Given the description of an element on the screen output the (x, y) to click on. 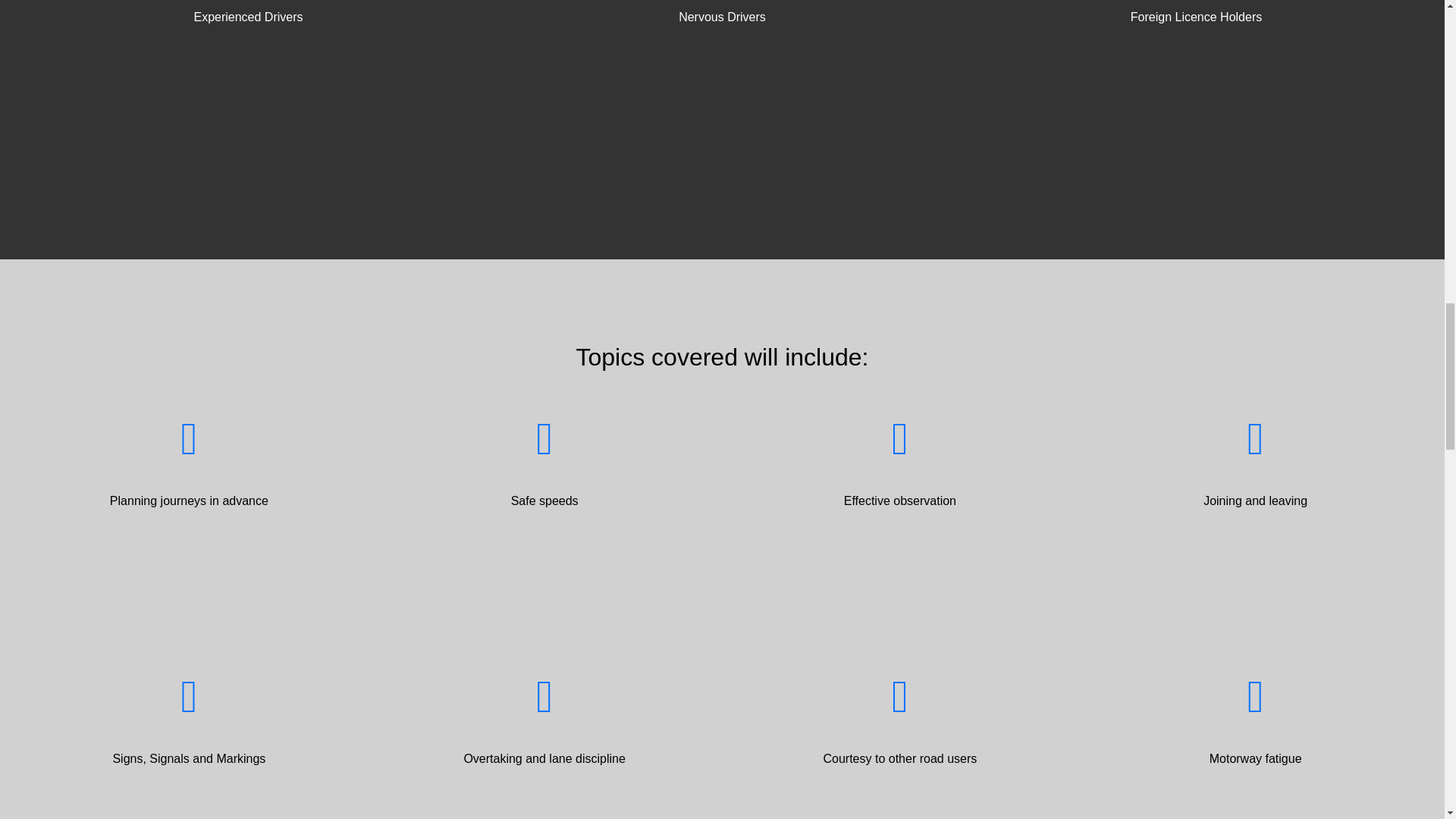
Foreign Licence Holders (1195, 19)
Experienced Drivers (247, 19)
Nervous Drivers (721, 19)
